Given the description of an element on the screen output the (x, y) to click on. 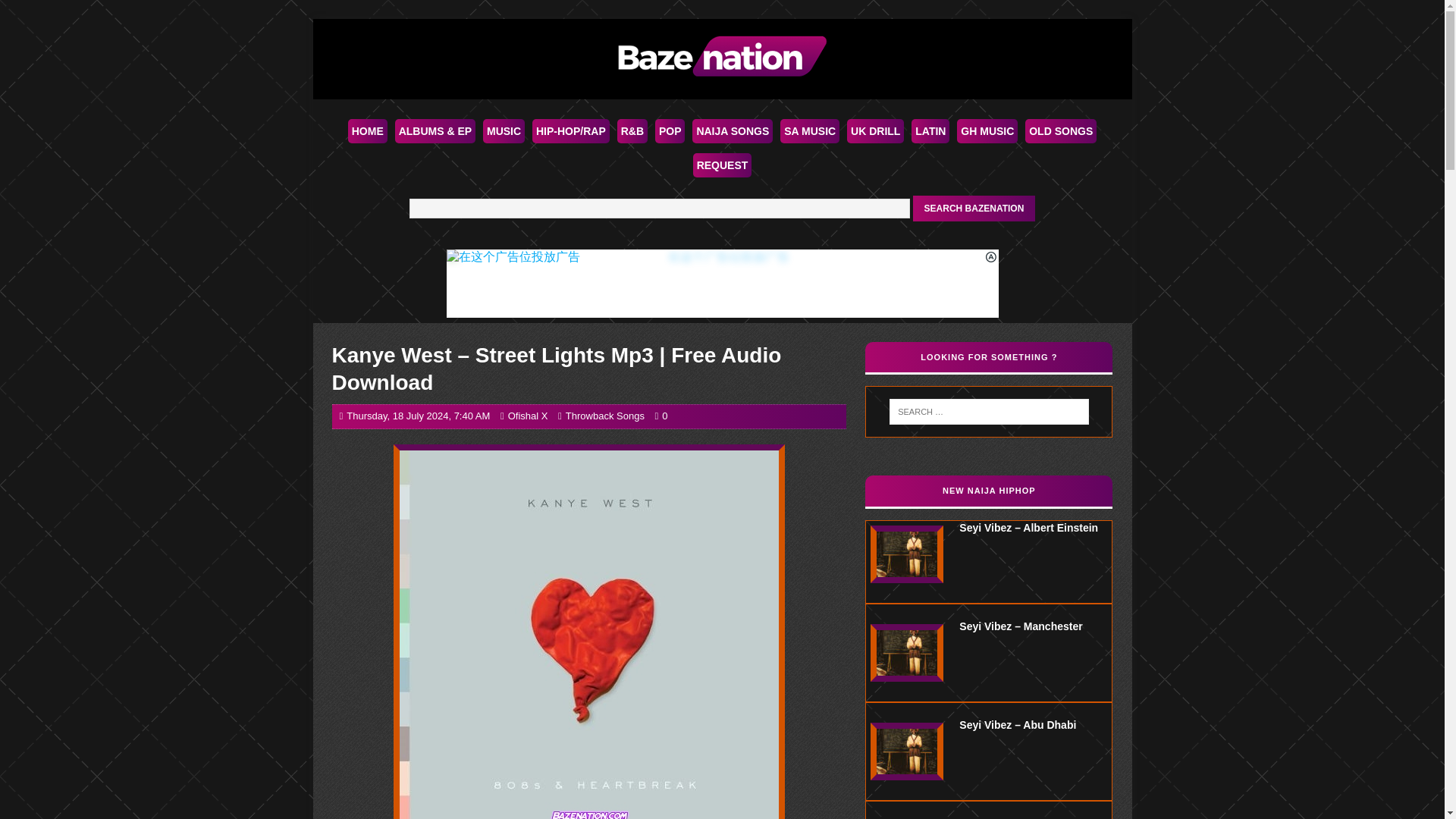
POP (670, 130)
SA MUSIC (810, 130)
Search Bazenation (973, 208)
NAIJA SONGS (733, 130)
HOME (367, 130)
MUSIC (503, 130)
